Given the description of an element on the screen output the (x, y) to click on. 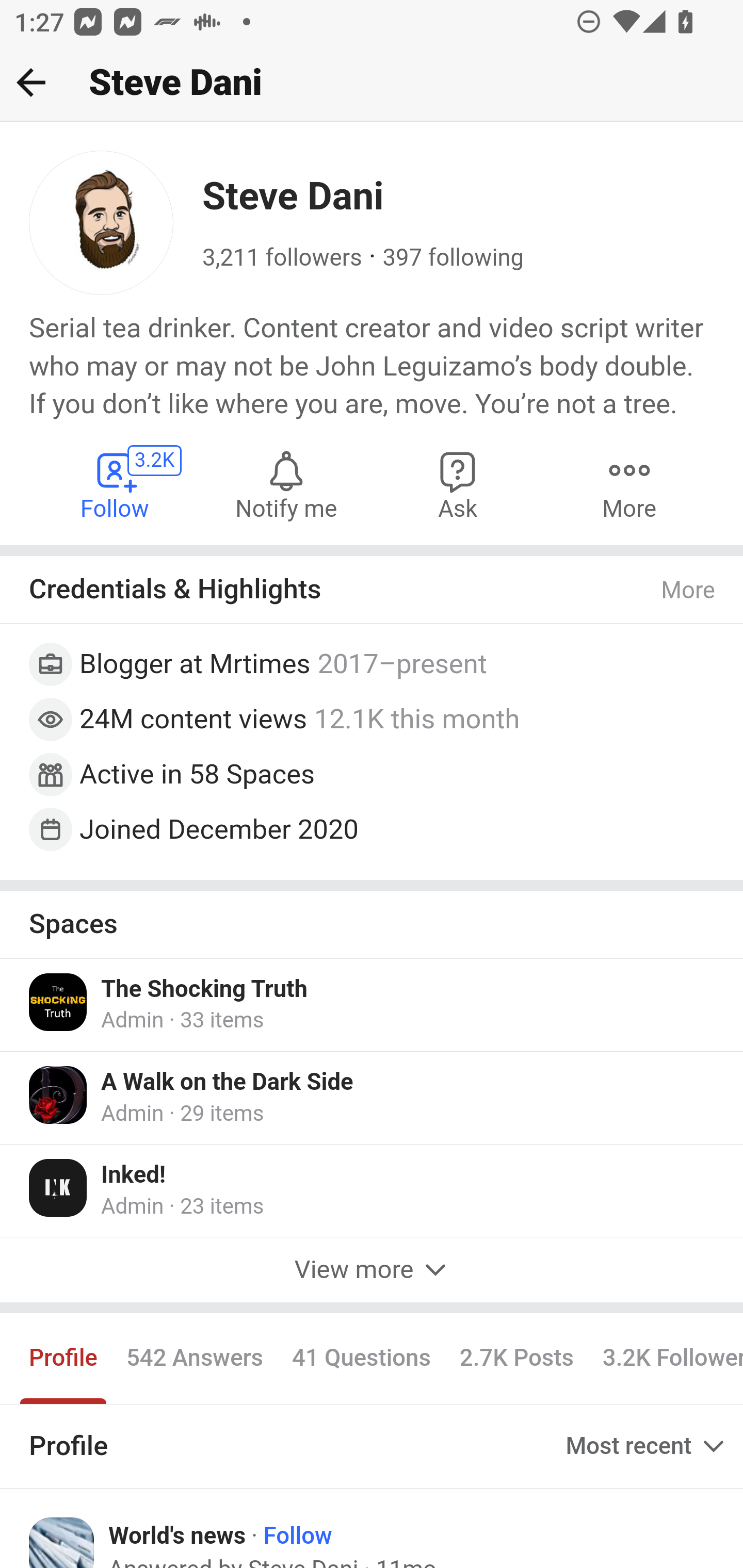
Back (30, 82)
3,211 followers (282, 257)
397 following (452, 257)
Follow Steve Dani 3.2K Follow (115, 483)
Notify me (285, 483)
Ask (458, 483)
More (628, 483)
More (688, 590)
Icon for The Shocking Truth (58, 1001)
The Shocking Truth (204, 990)
Icon for A Walk on the Dark Side (58, 1094)
A Walk on the Dark Side (227, 1082)
Icon for Inked! (58, 1186)
Inked! (134, 1174)
View more (371, 1270)
Profile (63, 1358)
542 Answers (193, 1358)
41 Questions (360, 1358)
2.7K Posts (516, 1358)
3.2K Followers (664, 1358)
Most recent (647, 1445)
Icon for World's news (61, 1542)
World's news (177, 1535)
Follow (297, 1535)
